Given the description of an element on the screen output the (x, y) to click on. 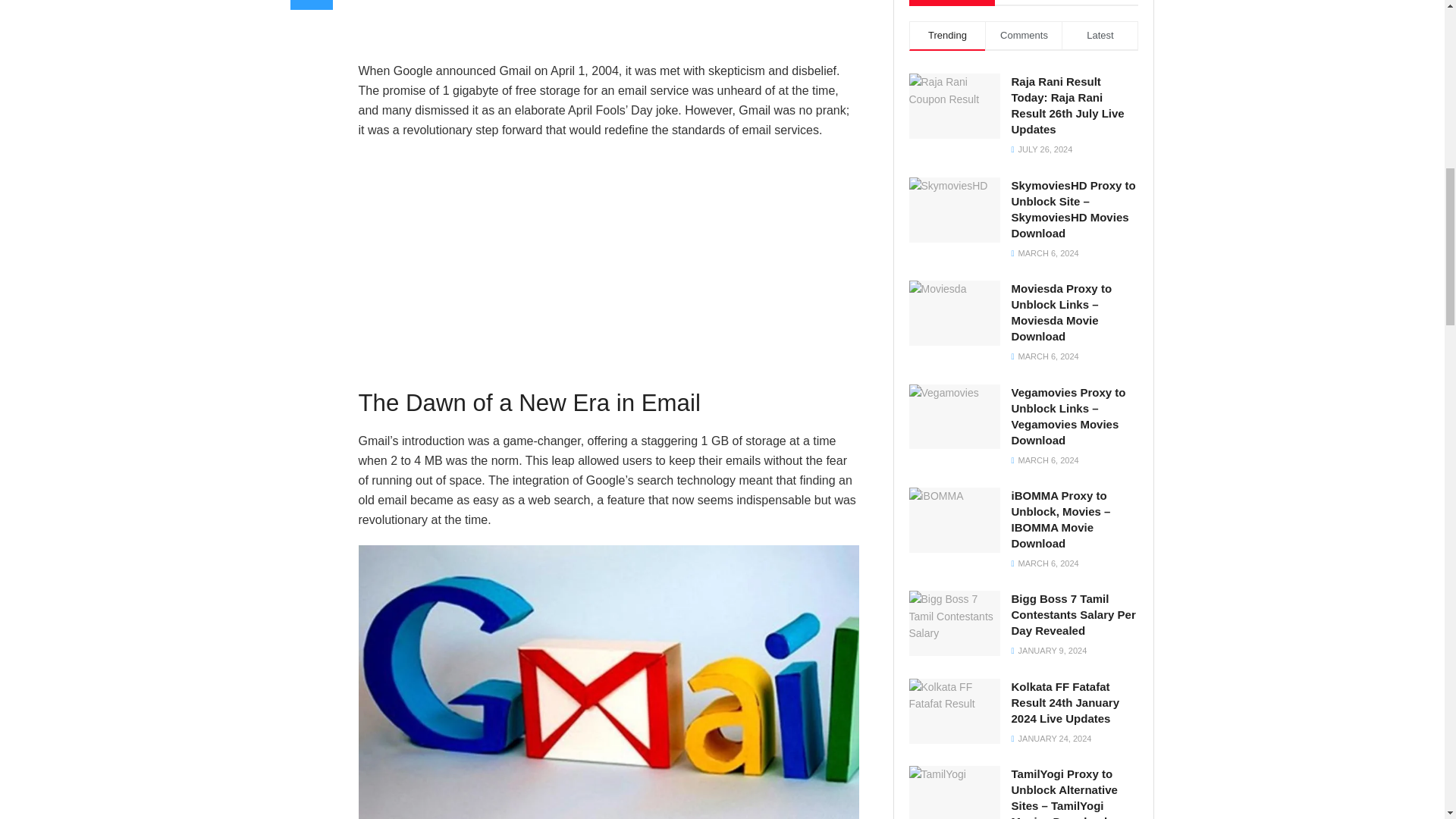
Advertisement (608, 261)
Advertisement (608, 27)
